Given the description of an element on the screen output the (x, y) to click on. 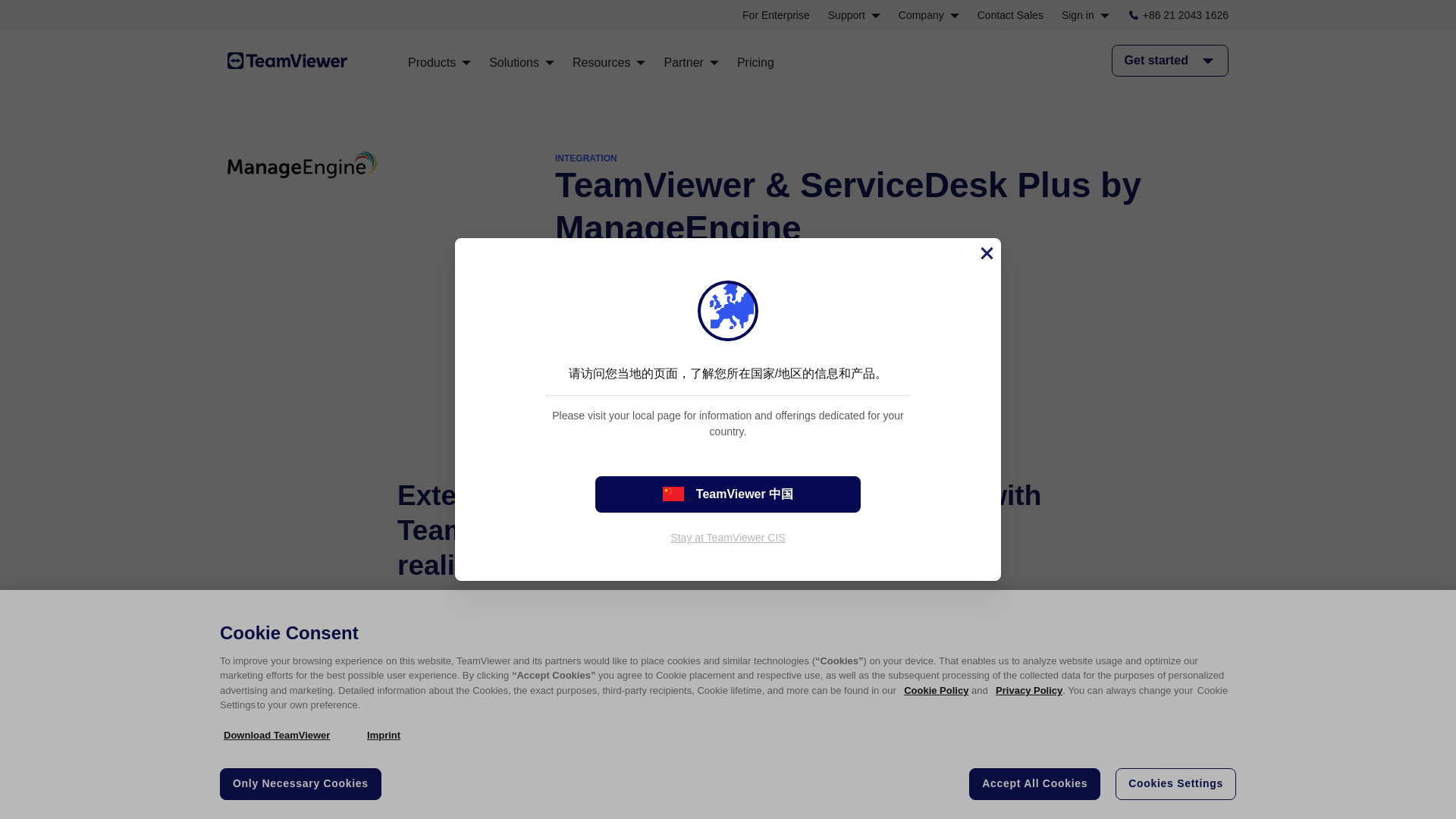
Company (928, 15)
Sign in (1085, 15)
Contact Sales (1009, 15)
Support (854, 15)
For Enterprise (775, 15)
Get started (624, 322)
Stay at TeamViewer CIS (727, 537)
Products (438, 62)
